Given the description of an element on the screen output the (x, y) to click on. 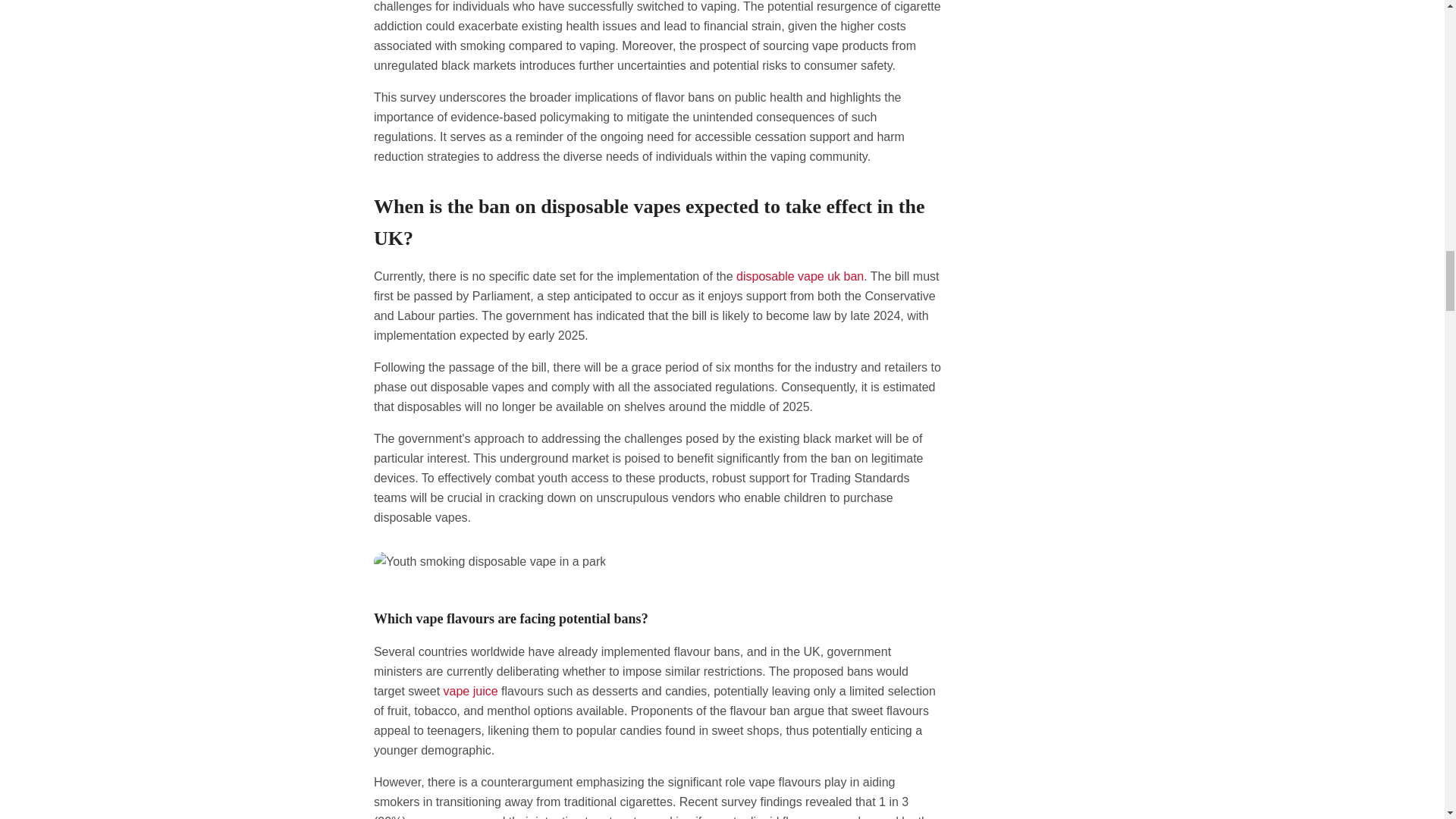
disposable vapes uk ban (799, 276)
vape juice (470, 690)
